Given the description of an element on the screen output the (x, y) to click on. 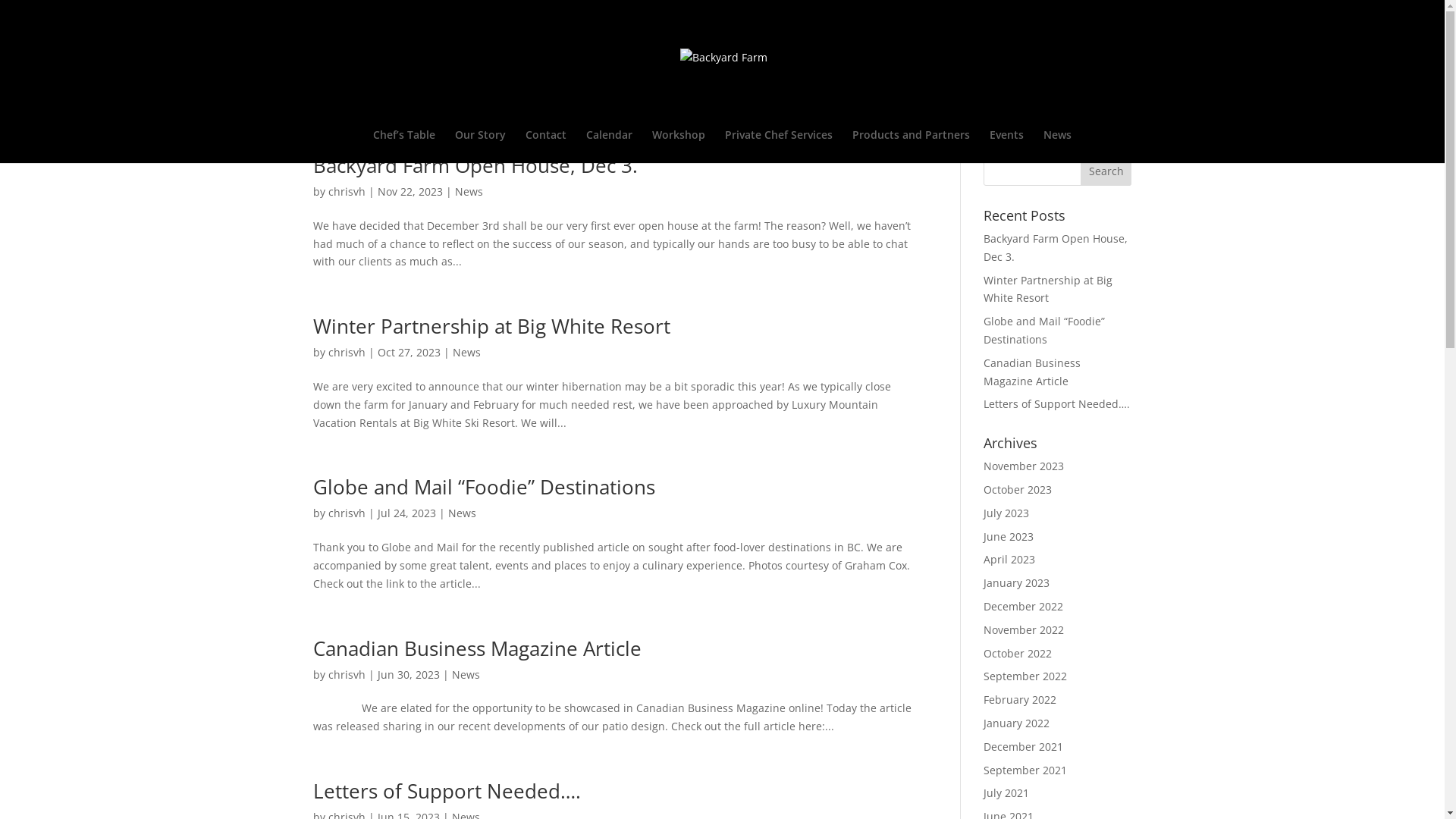
News Element type: text (469, 191)
Contact Element type: text (545, 146)
April 2023 Element type: text (1009, 559)
Private Chef Services Element type: text (778, 146)
chrisvh Element type: text (345, 352)
September 2021 Element type: text (1024, 769)
Canadian Business Magazine Article Element type: text (1031, 371)
Search Element type: text (1106, 170)
Our Story Element type: text (480, 146)
January 2022 Element type: text (1016, 722)
Canadian Business Magazine Article Element type: text (476, 648)
Calendar Element type: text (609, 146)
Winter Partnership at Big White Resort Element type: text (1047, 289)
Backyard Farm Open House, Dec 3. Element type: text (474, 164)
September 2022 Element type: text (1024, 675)
November 2023 Element type: text (1023, 465)
News Element type: text (461, 512)
November 2022 Element type: text (1023, 629)
July 2021 Element type: text (1006, 792)
Events Element type: text (1006, 146)
December 2022 Element type: text (1023, 606)
December 2021 Element type: text (1023, 746)
chrisvh Element type: text (345, 512)
chrisvh Element type: text (345, 191)
News Element type: text (465, 674)
Products and Partners Element type: text (910, 146)
Workshop Element type: text (678, 146)
News Element type: text (1057, 146)
October 2022 Element type: text (1017, 653)
chrisvh Element type: text (345, 674)
Winter Partnership at Big White Resort Element type: text (490, 325)
February 2022 Element type: text (1019, 699)
July 2023 Element type: text (1006, 512)
January 2023 Element type: text (1016, 582)
News Element type: text (465, 352)
Backyard Farm Open House, Dec 3. Element type: text (1055, 247)
October 2023 Element type: text (1017, 489)
June 2023 Element type: text (1008, 536)
